Given the description of an element on the screen output the (x, y) to click on. 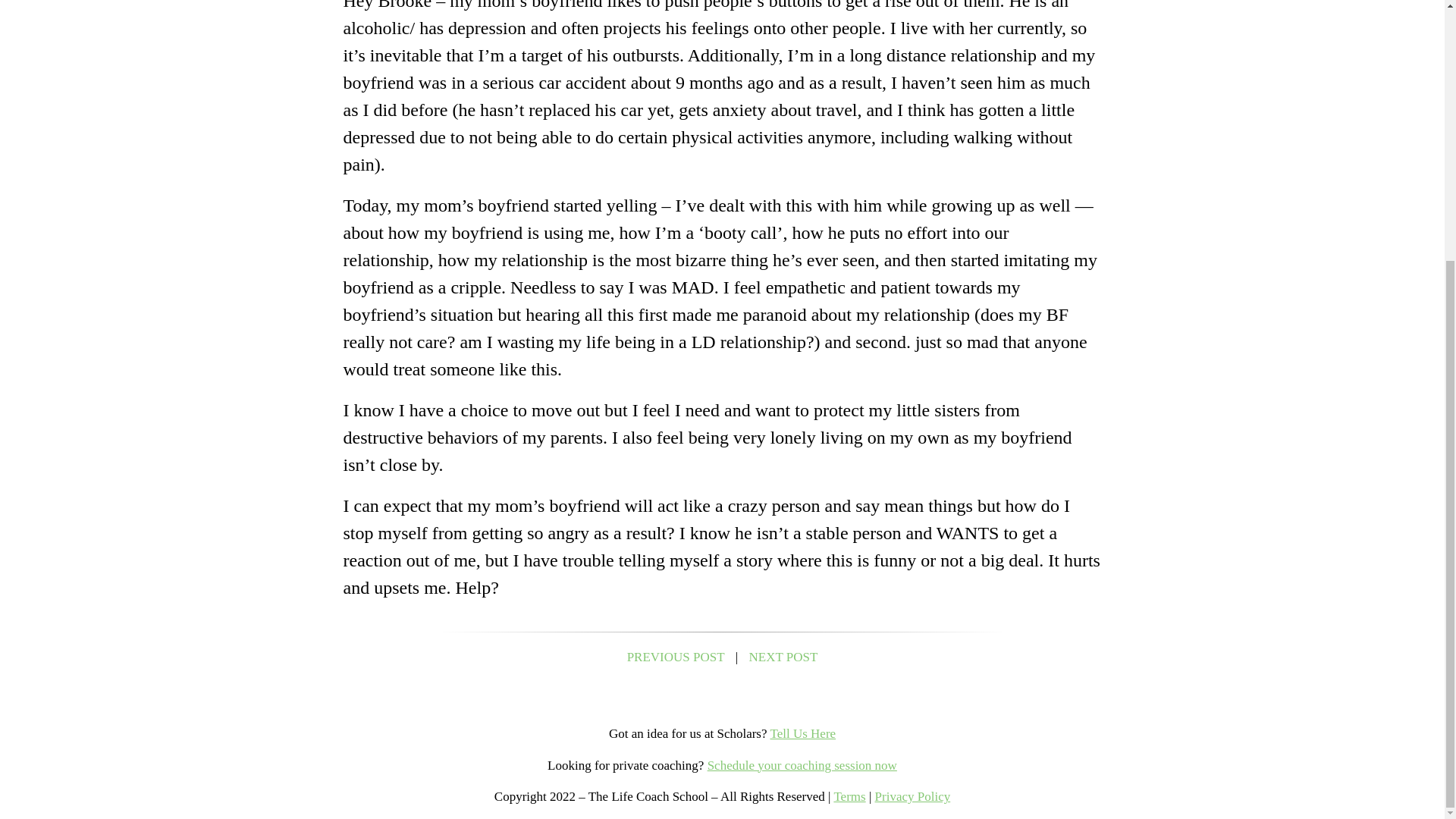
Tell Us Here (802, 733)
PREVIOUS POST (676, 657)
Schedule your coaching session now (801, 765)
NEXT POST (783, 657)
Privacy Policy (912, 796)
Terms (848, 796)
